Given the description of an element on the screen output the (x, y) to click on. 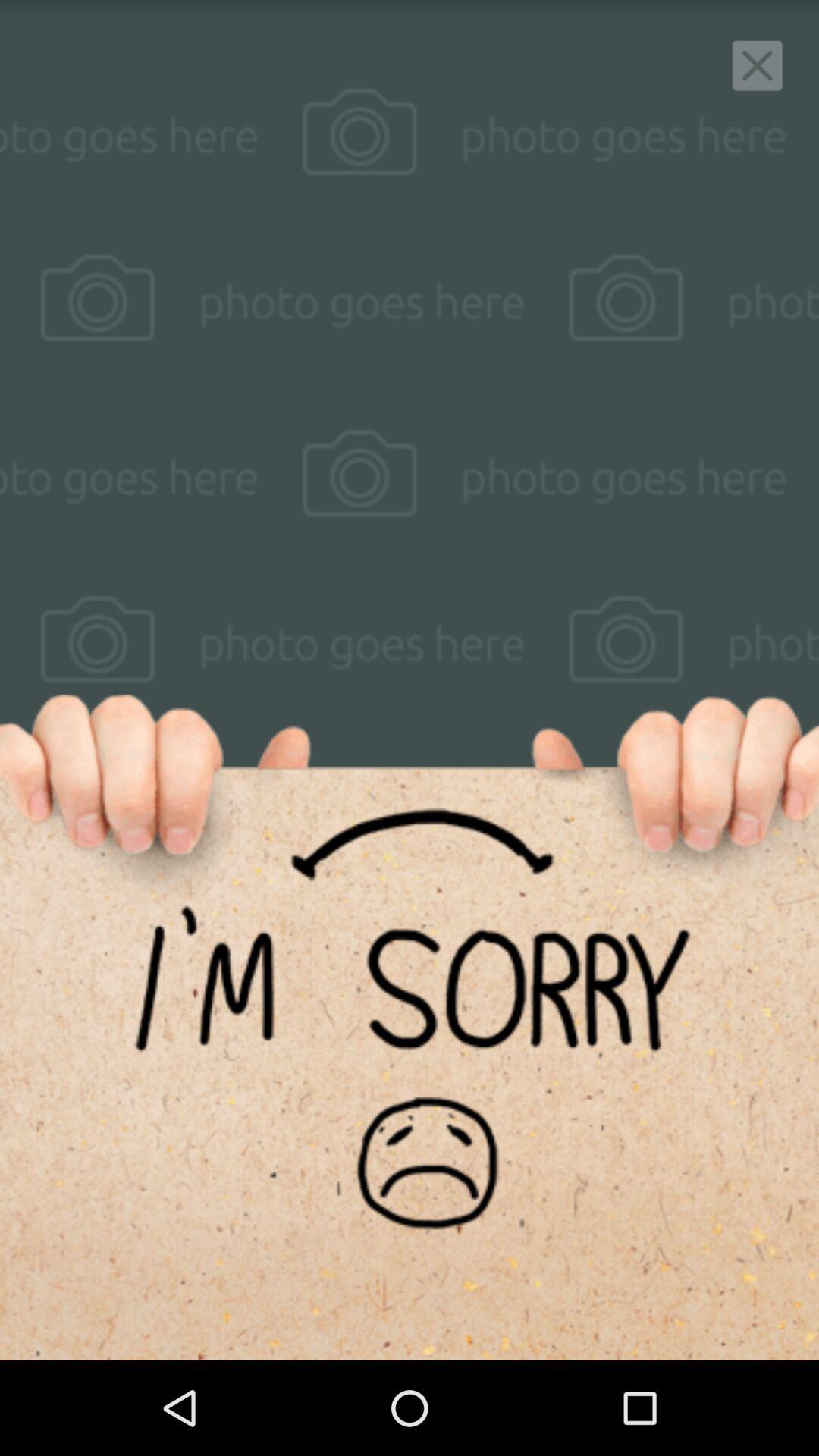
exit (757, 65)
